Given the description of an element on the screen output the (x, y) to click on. 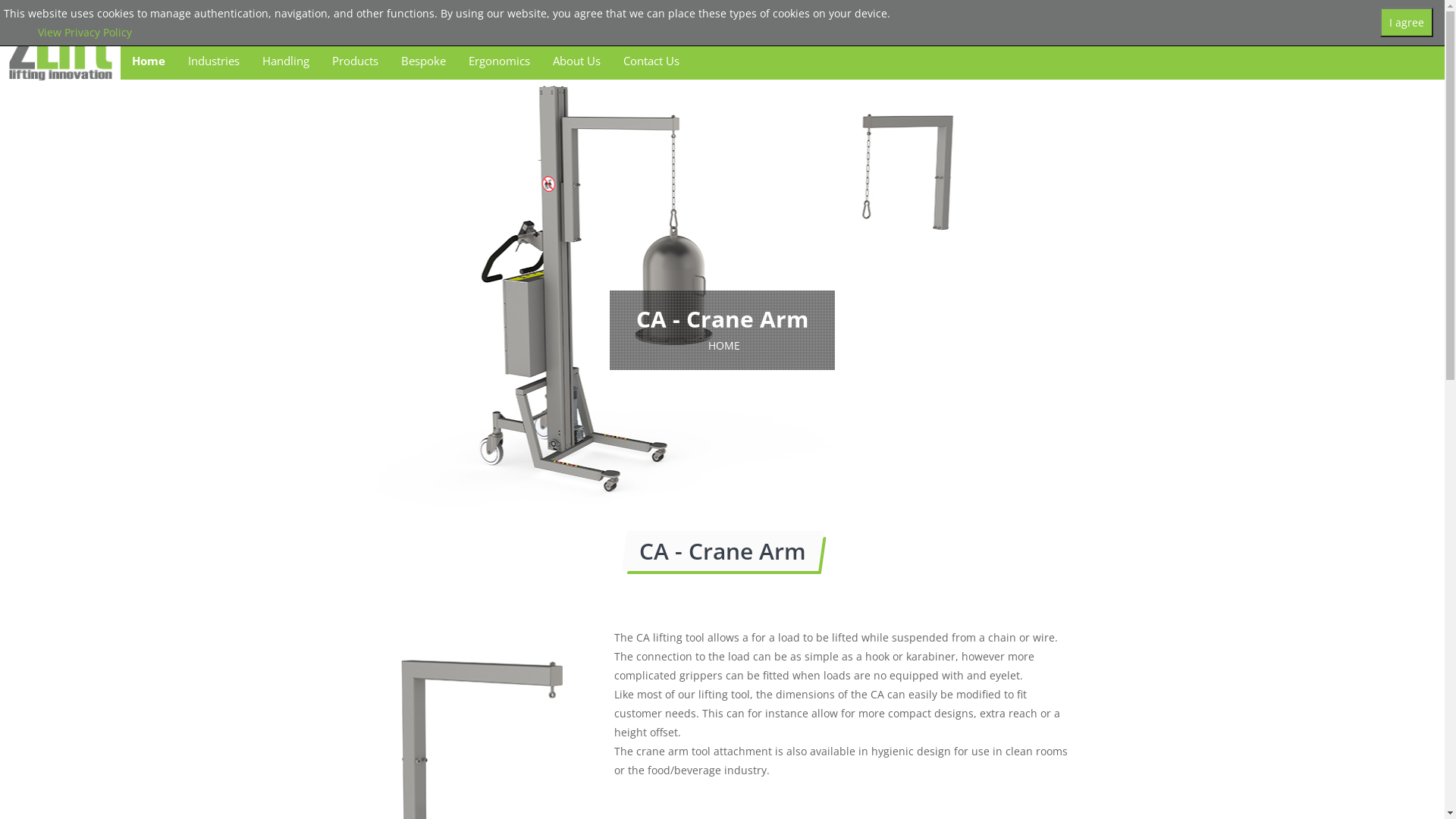
Industries Element type: text (213, 60)
About Us Element type: text (576, 60)
Contact Us Element type: text (650, 60)
View Privacy Policy Element type: text (84, 32)
Home Element type: text (148, 60)
Ergonomics Element type: text (499, 60)
Bespoke Element type: text (423, 60)
I agree Element type: text (1406, 22)
Handling Element type: text (285, 60)
Products Element type: text (354, 60)
